Given the description of an element on the screen output the (x, y) to click on. 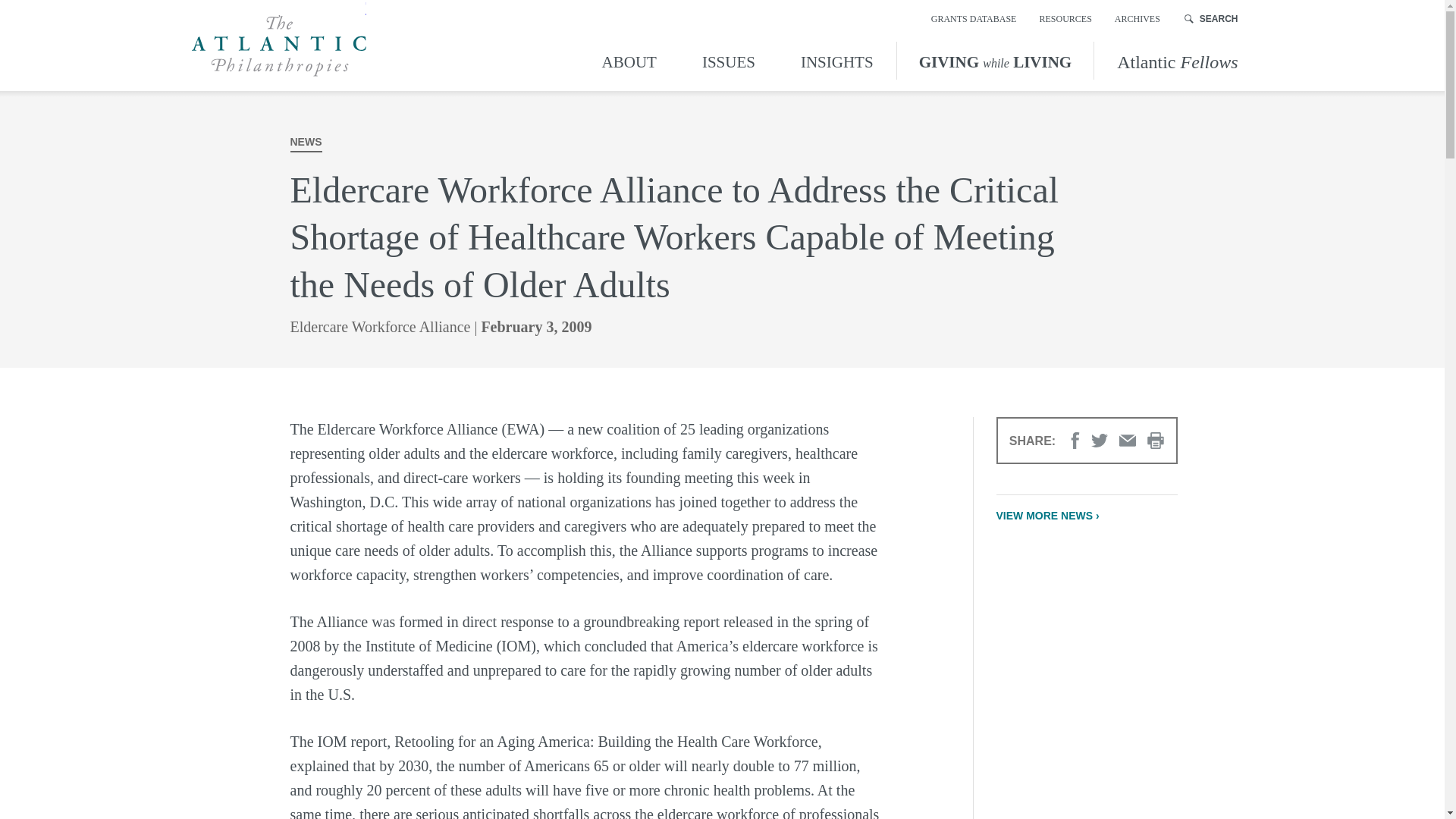
ISSUES (728, 60)
RESOURCES (1064, 18)
GRANTS DATABASE (973, 18)
The Atlantic Philanthropies (277, 45)
Skip to main content (14, 14)
ARCHIVES (1137, 18)
ABOUT (632, 60)
SEARCH (1212, 18)
